Given the description of an element on the screen output the (x, y) to click on. 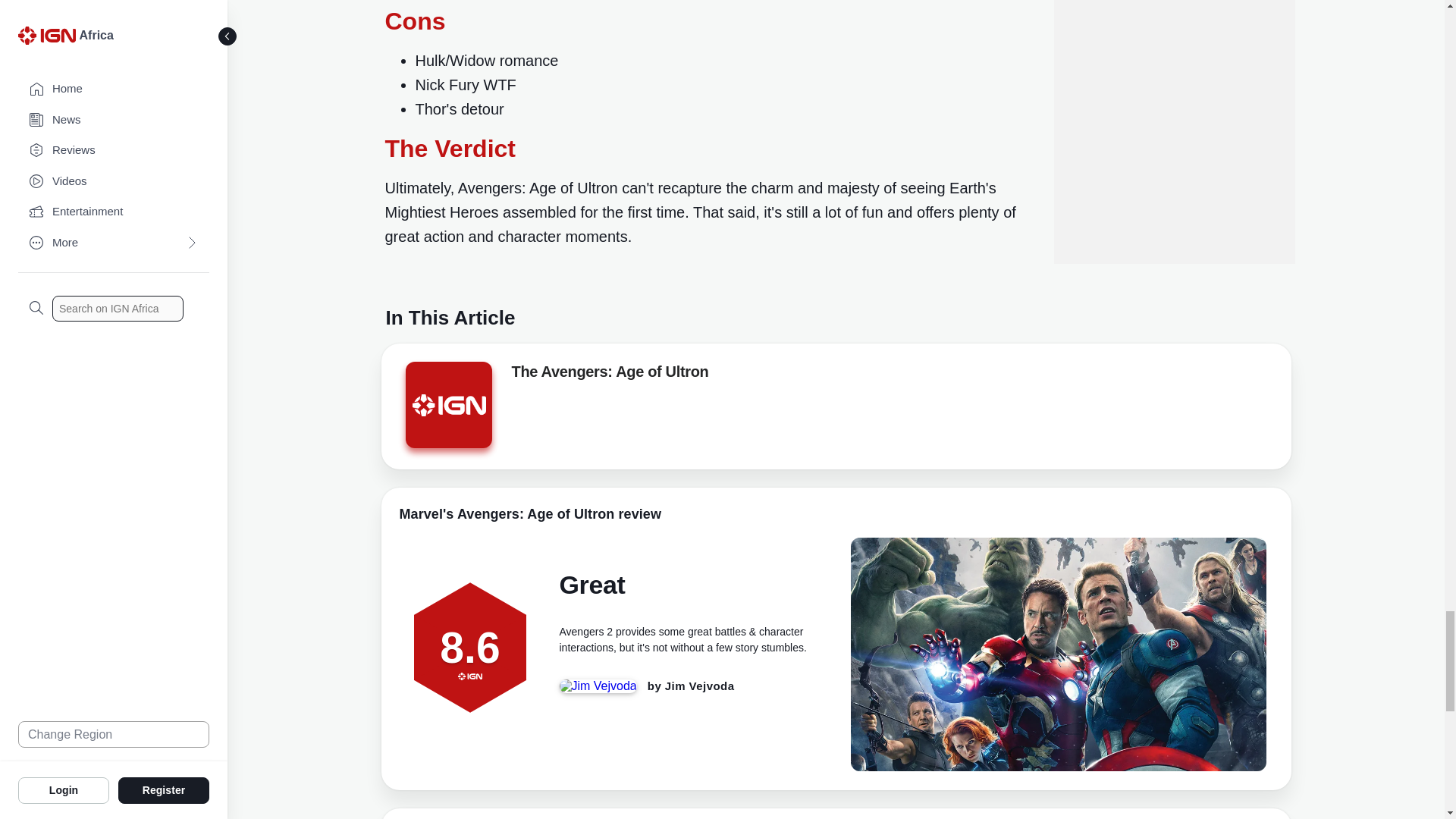
The Avengers: Age of Ultron (448, 404)
The Avengers: Age of Ultron (609, 374)
Jim Vejvoda (700, 685)
The Avengers: Age of Ultron (448, 409)
The Avengers: Age of Ultron (609, 374)
